Given the description of an element on the screen output the (x, y) to click on. 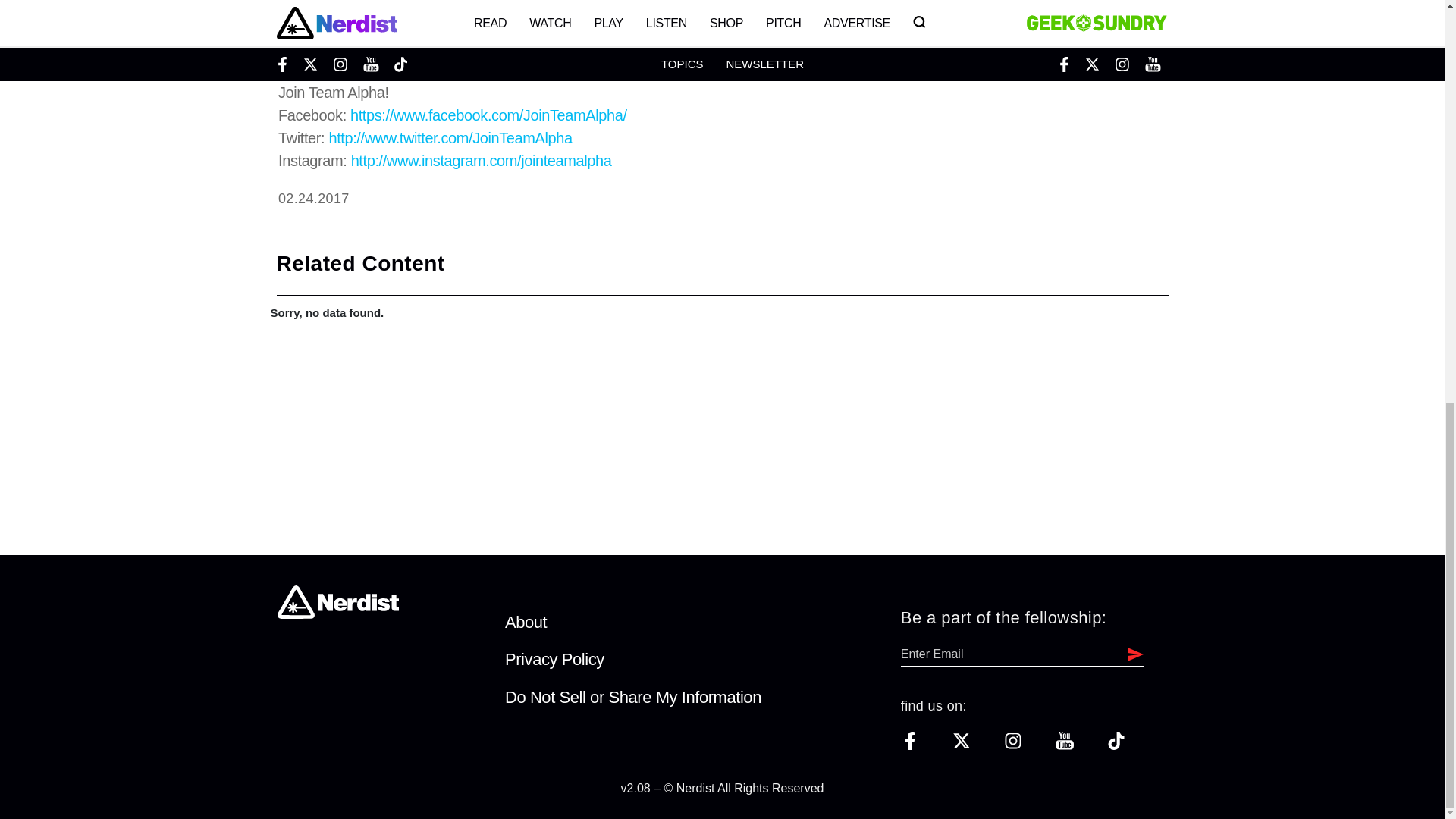
Privacy Policy (554, 659)
Sign Up (1131, 653)
About (526, 621)
